Given the description of an element on the screen output the (x, y) to click on. 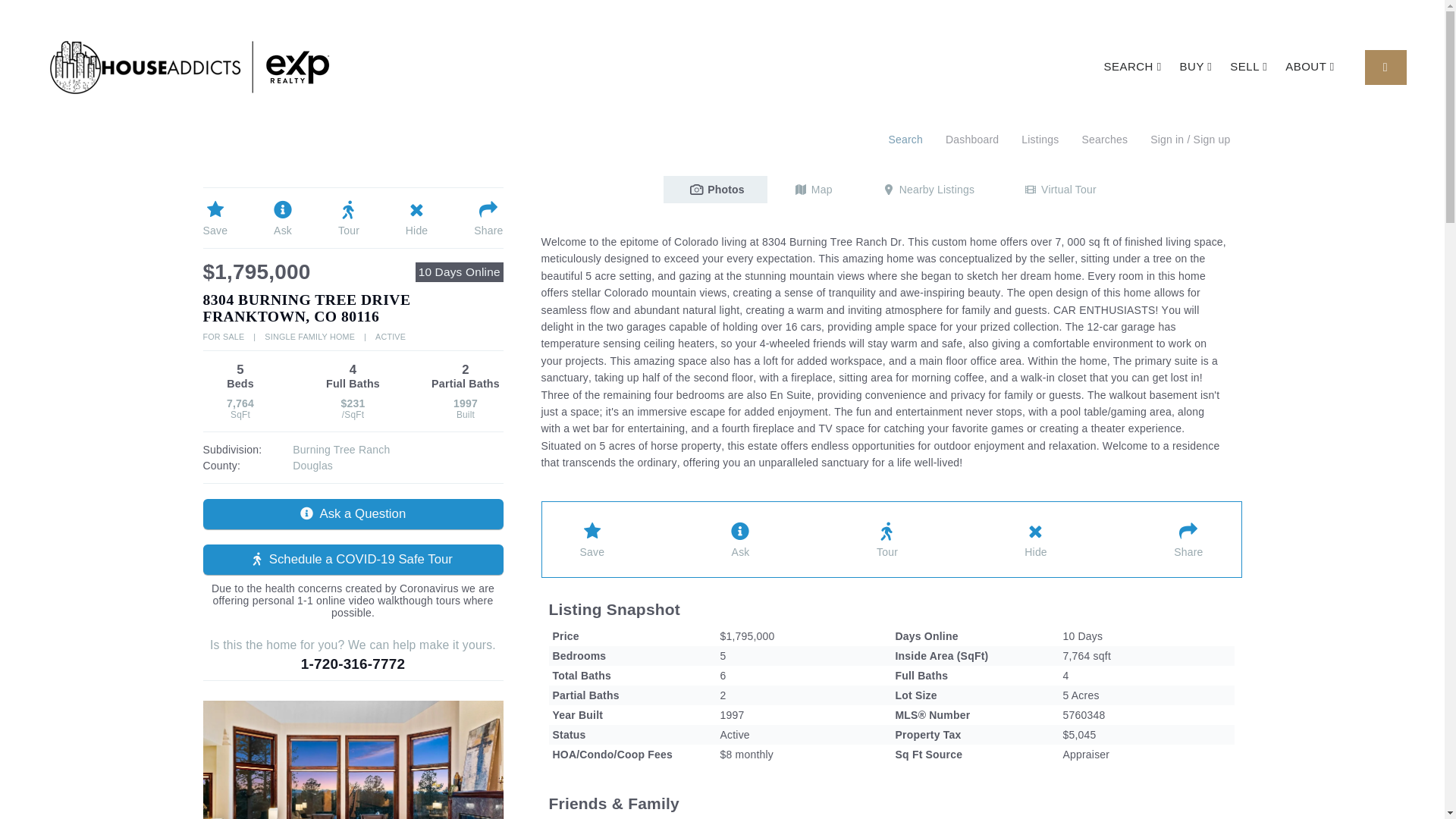
ABOUT (1309, 66)
BUTTON ICON (1385, 67)
SELL (1248, 66)
SEARCH (1132, 66)
BUY (1195, 66)
